Given the description of an element on the screen output the (x, y) to click on. 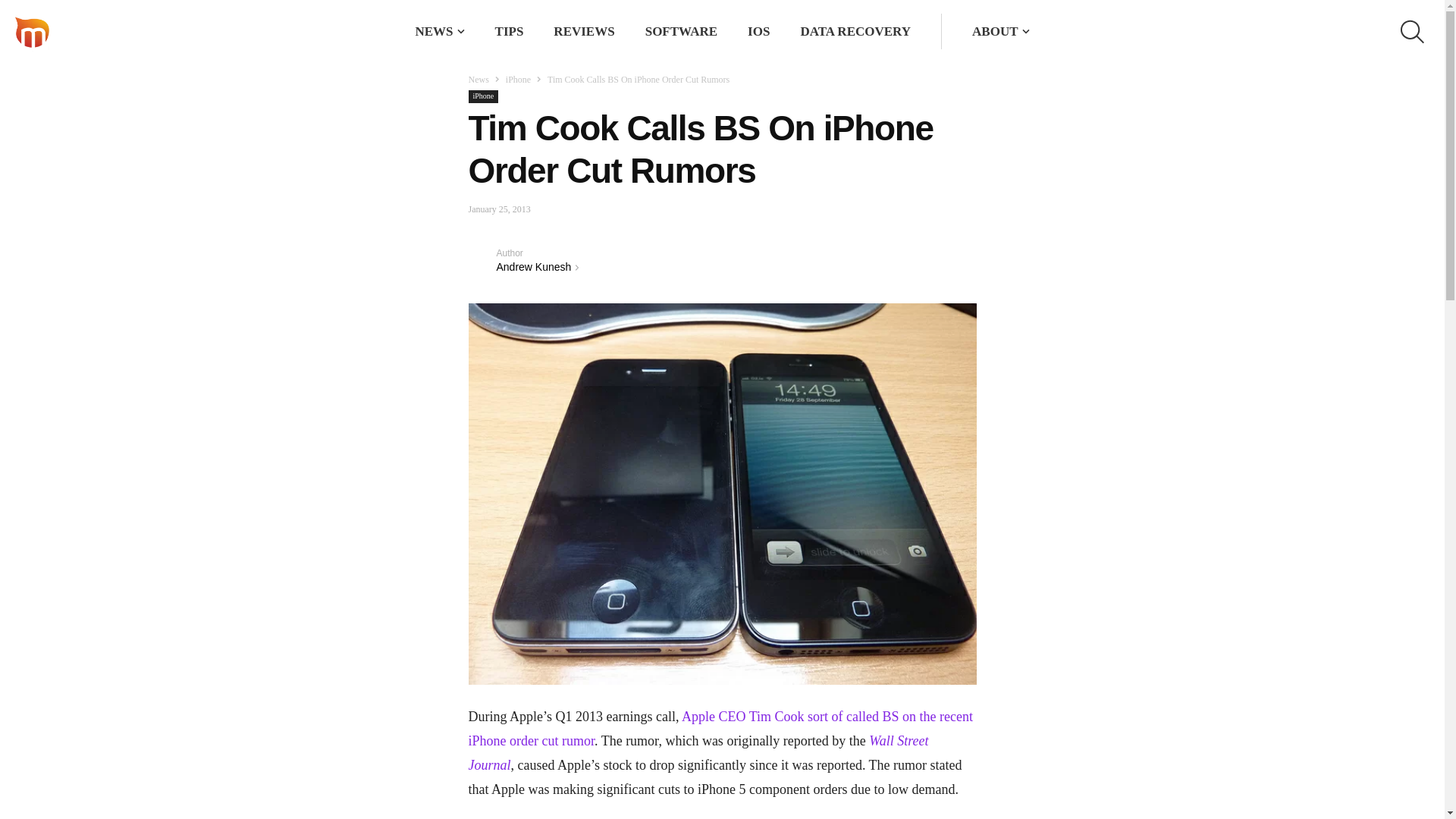
SOFTWARE (681, 31)
News (478, 79)
NEWS (433, 31)
Wall Street Journal (698, 752)
REVIEWS (583, 31)
iPhone (483, 96)
DATA RECOVERY (855, 31)
Search (918, 31)
Andrew Kunesh (533, 266)
ABOUT (994, 31)
Andrew Kunesh (482, 258)
Search (918, 31)
iPhone (518, 79)
View all posts in iPhone (518, 79)
